Given the description of an element on the screen output the (x, y) to click on. 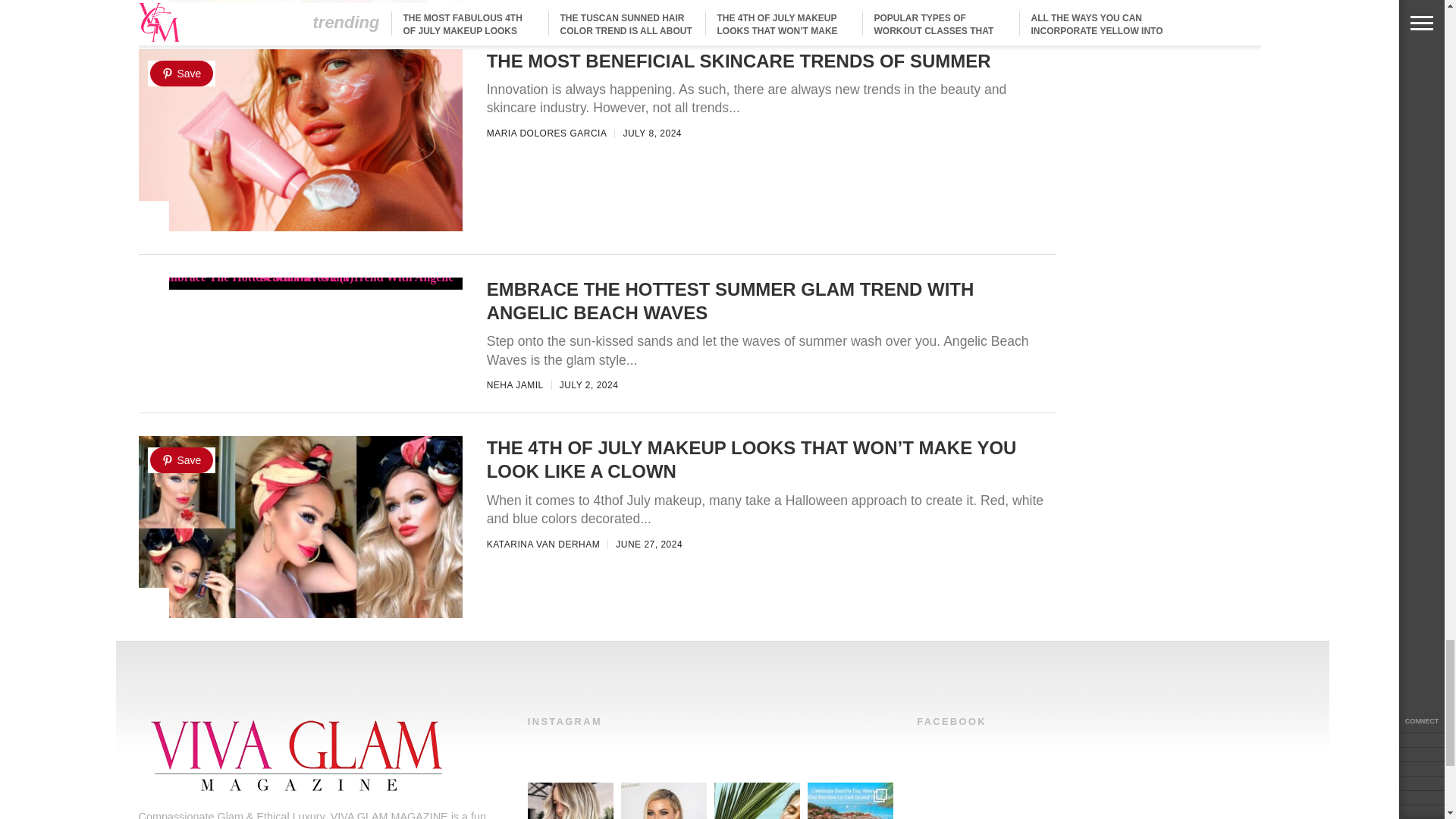
The Most Beneficial Skincare Trends of Summer (299, 238)
How To Show Your Skin Some Love: Skincare Tips And Tricks (299, 10)
